Given the description of an element on the screen output the (x, y) to click on. 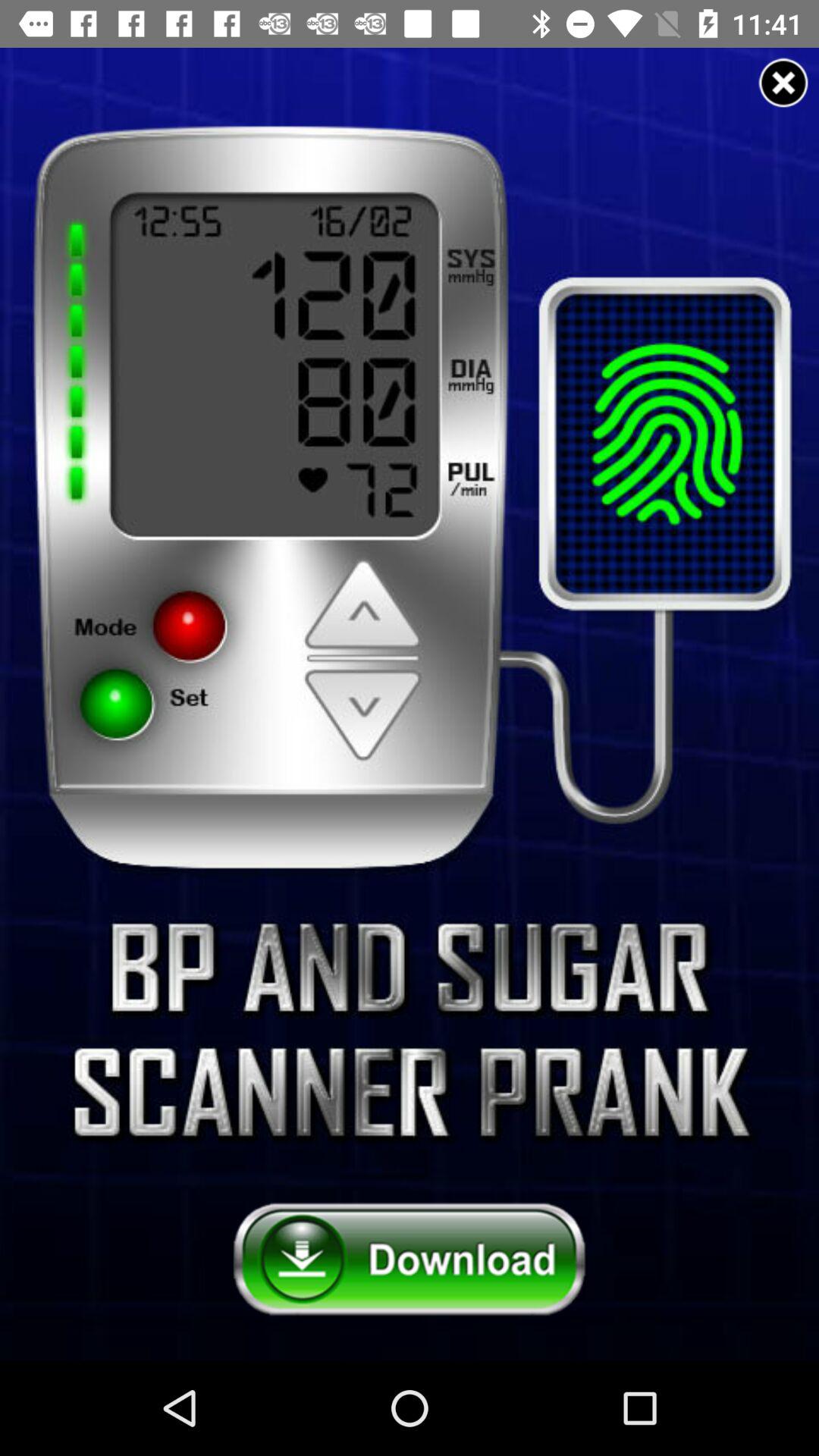
download (409, 1260)
